Given the description of an element on the screen output the (x, y) to click on. 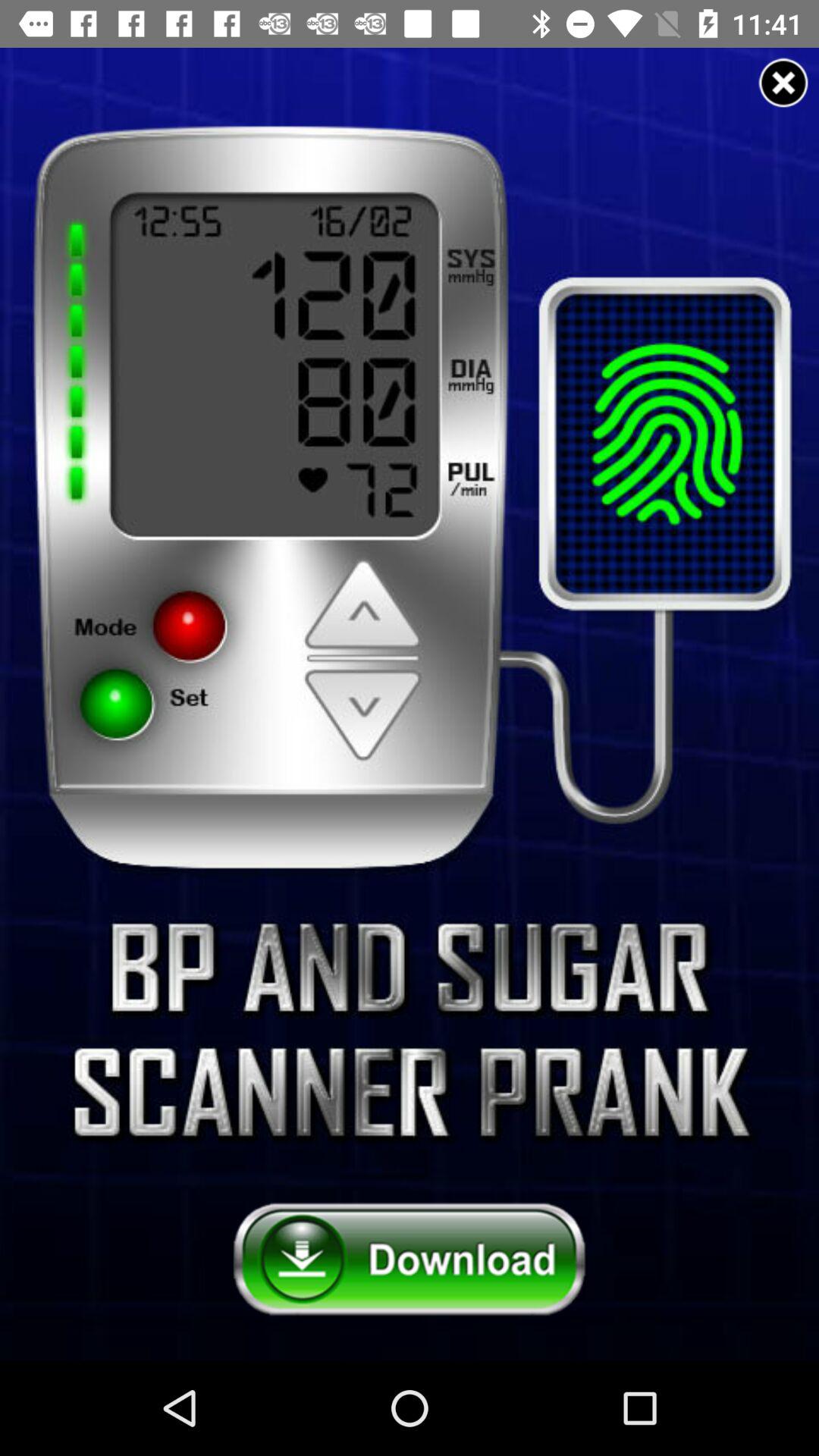
download (409, 1260)
